Given the description of an element on the screen output the (x, y) to click on. 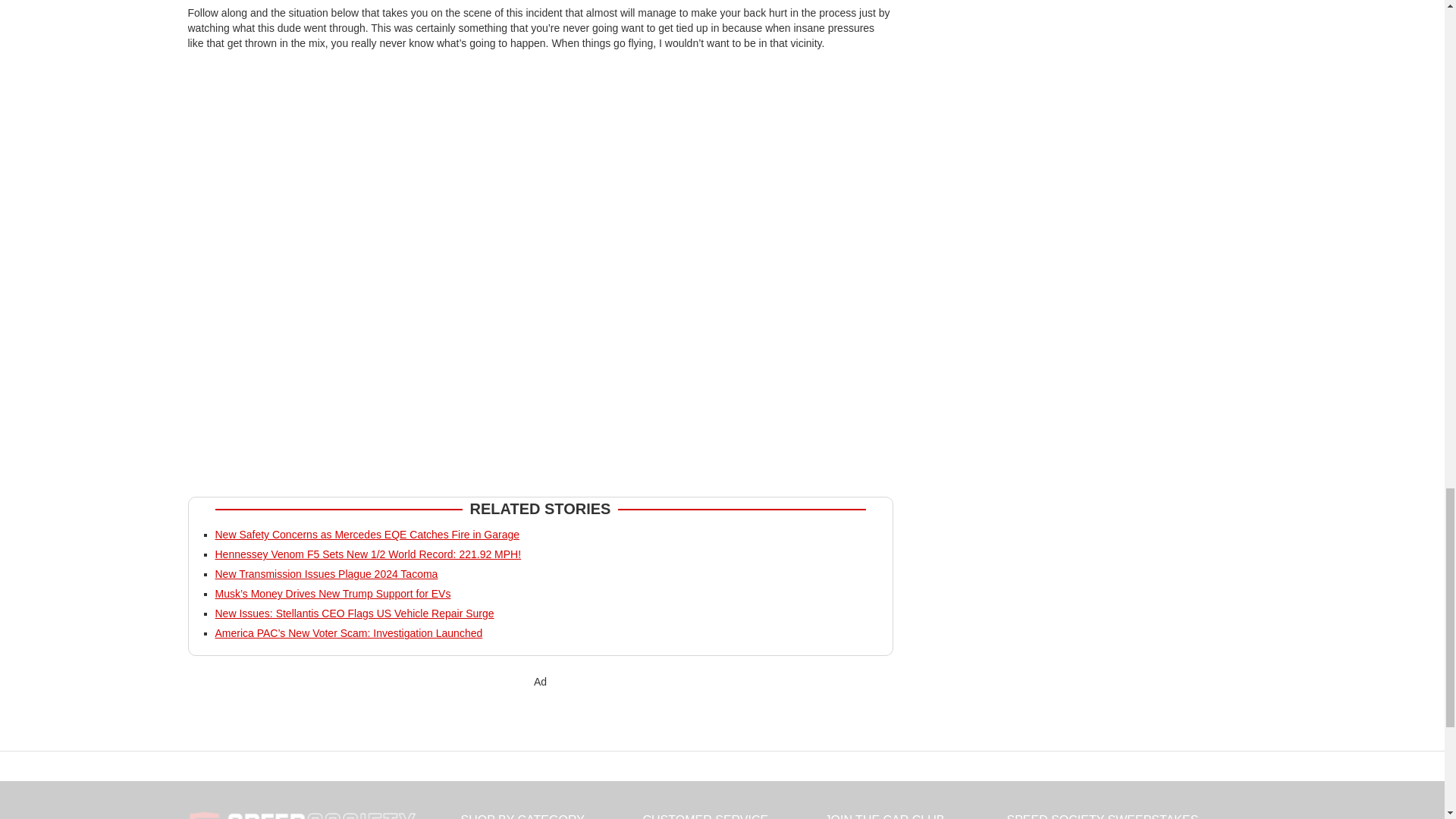
New Issues: Stellantis CEO Flags US Vehicle Repair Surge (355, 613)
footer logo (300, 815)
New Transmission Issues Plague 2024 Tacoma (326, 573)
New Safety Concerns as Mercedes EQE Catches Fire in Garage (367, 534)
